Given the description of an element on the screen output the (x, y) to click on. 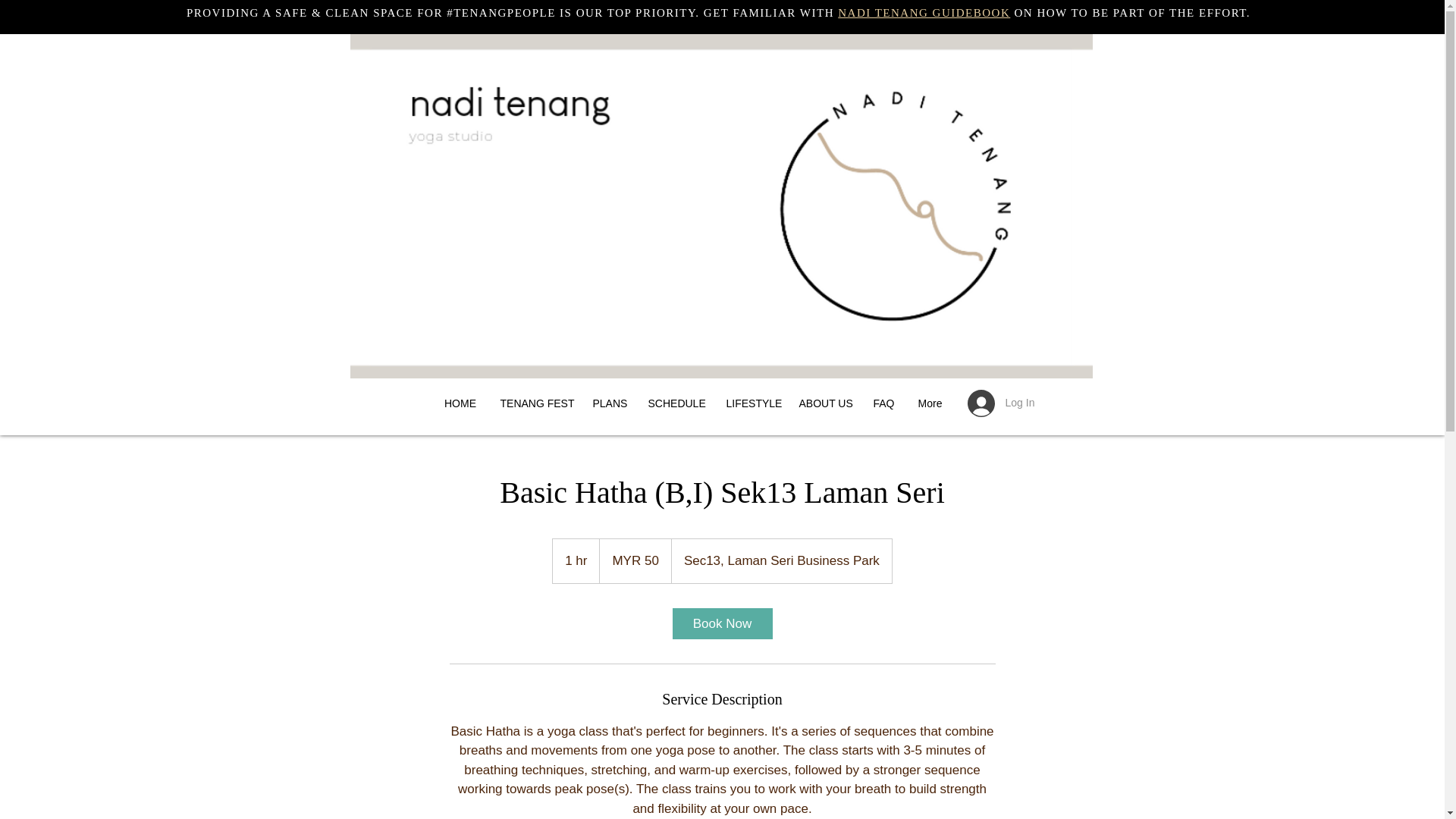
LIFESTYLE (750, 403)
HOME (459, 403)
SCHEDULE (673, 403)
NADI TENANG GUIDEBOOK (924, 12)
FAQ (883, 403)
TENANG FEST (533, 403)
Visitor Analytics (452, 198)
ABOUT US (824, 403)
Book Now (721, 623)
Log In (992, 402)
PLANS (608, 403)
